Given the description of an element on the screen output the (x, y) to click on. 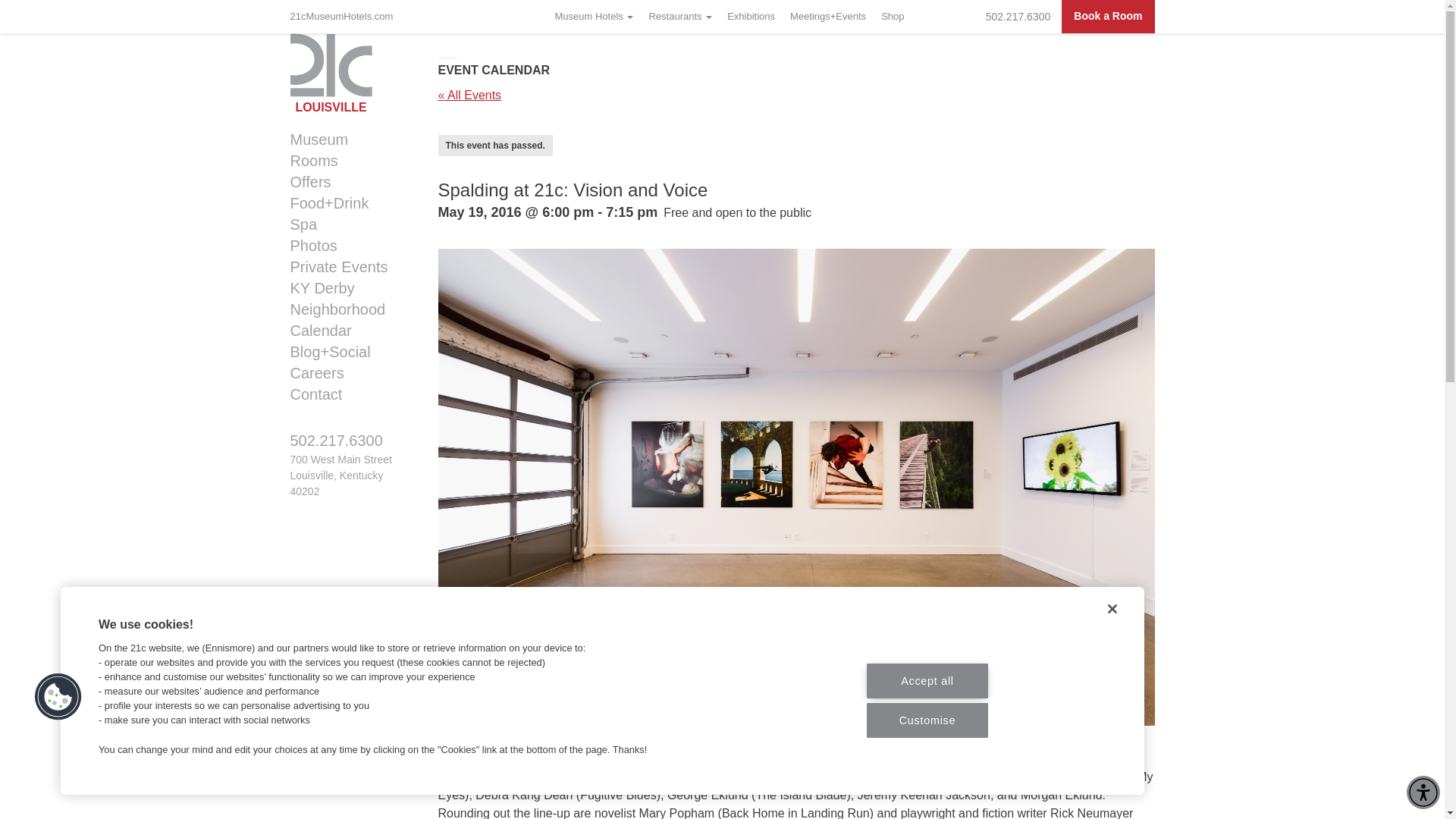
LOUISVILLE (351, 73)
Cookies Button (57, 696)
21cMuseumHotels.com (344, 16)
Museum Hotels (594, 16)
Accessibility Menu (1422, 792)
